Given the description of an element on the screen output the (x, y) to click on. 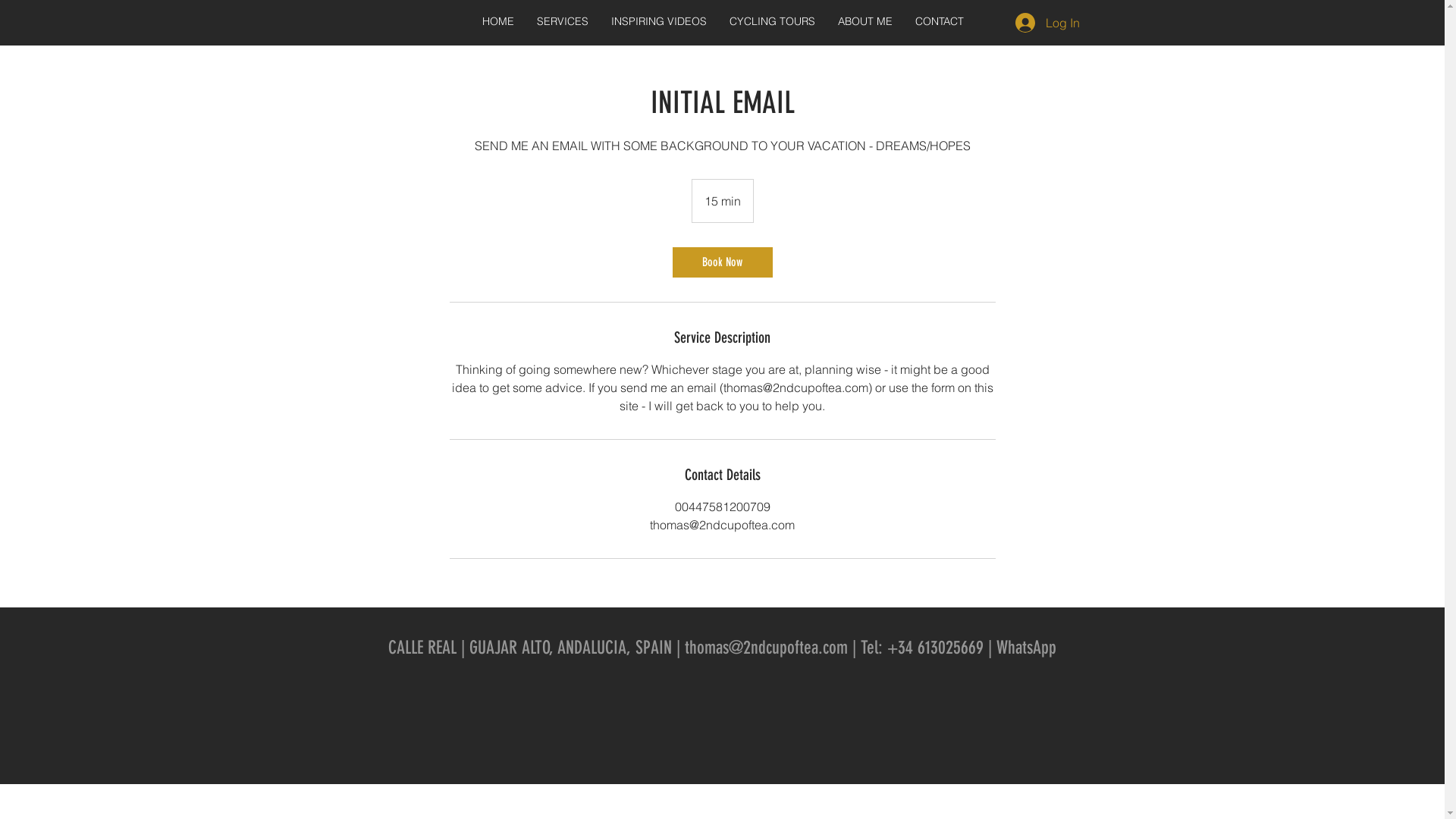
thomas@2ndcupoftea.com Element type: text (765, 647)
Log In Element type: text (1046, 22)
INSPIRING VIDEOS Element type: text (658, 21)
CYCLING TOURS Element type: text (771, 21)
ABOUT ME Element type: text (864, 21)
Book Now Element type: text (721, 262)
SERVICES Element type: text (561, 21)
HOME Element type: text (497, 21)
CONTACT Element type: text (939, 21)
